Given the description of an element on the screen output the (x, y) to click on. 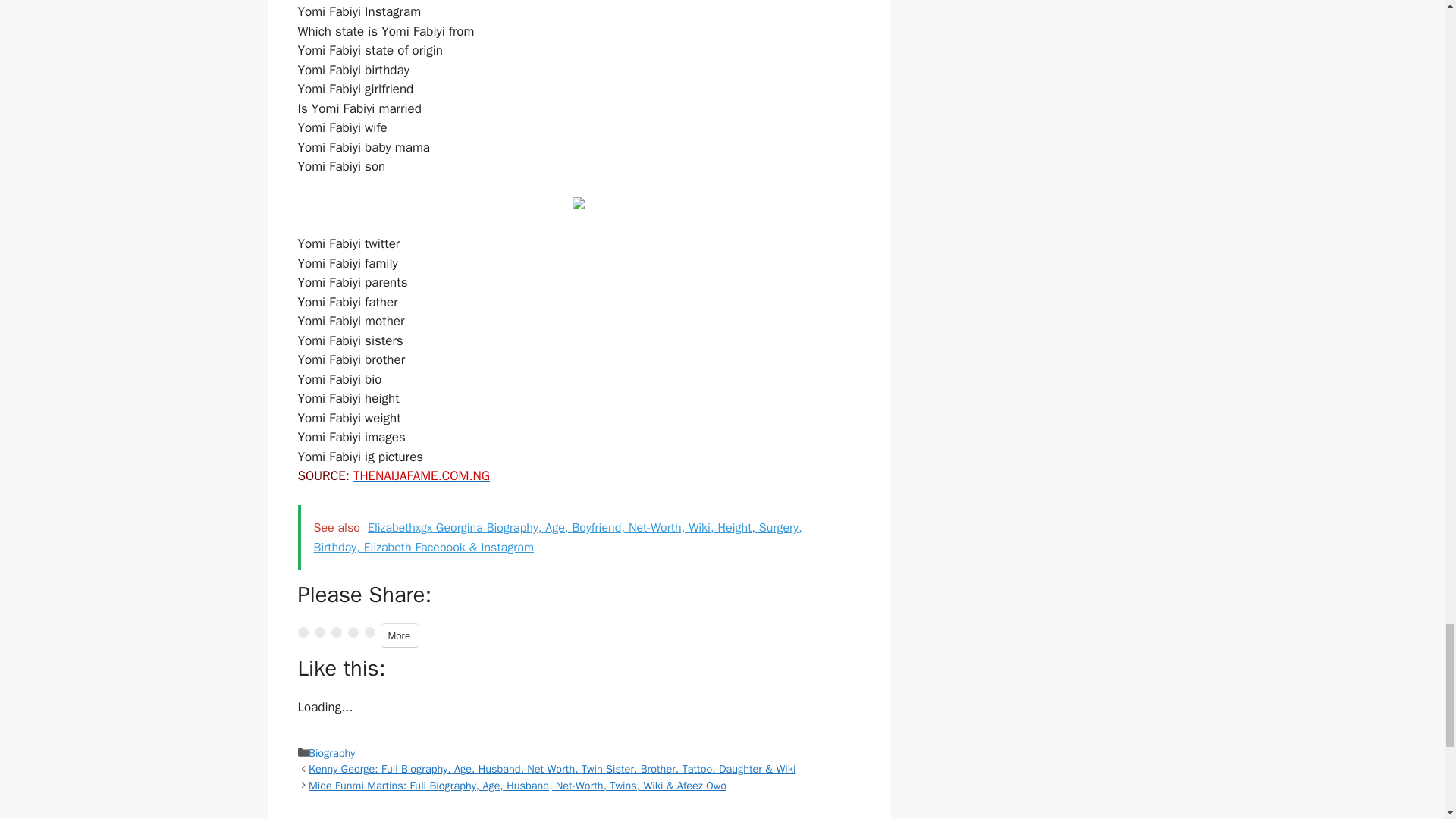
Click to share on Pinterest (335, 632)
THENAIJAFAME.COM.NG (421, 475)
Biography (331, 753)
More (399, 635)
Click to share on Telegram (352, 632)
Click to share on WhatsApp (369, 632)
Click to share on Twitter (302, 632)
Click to share on Facebook (319, 632)
